Given the description of an element on the screen output the (x, y) to click on. 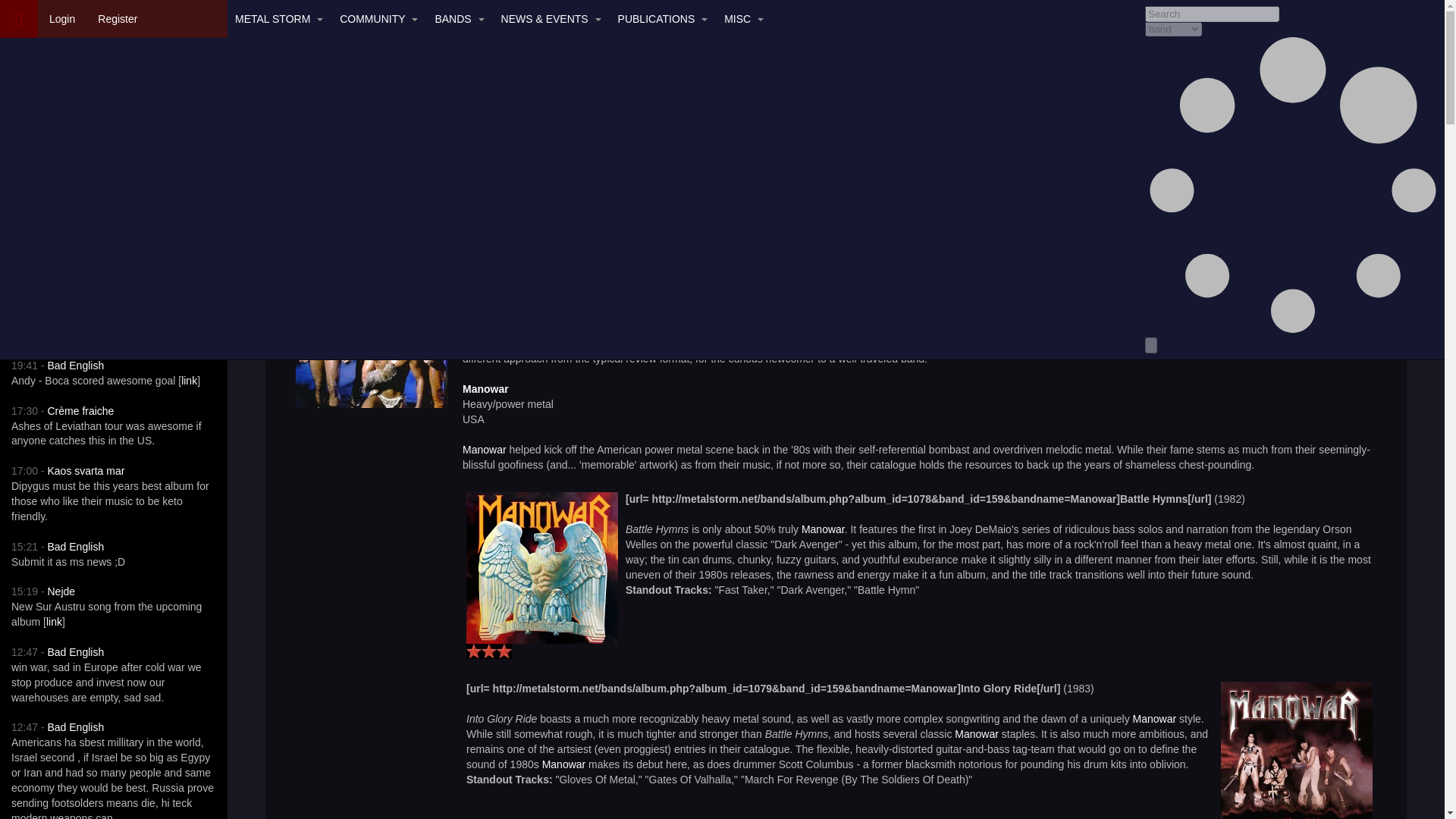
BANDS (455, 18)
METAL STORM (275, 18)
Register (116, 18)
COMMUNITY (375, 18)
with Kob (167, 251)
with N.C. (59, 251)
with Mark Deeks (59, 189)
Login (61, 18)
